Given the description of an element on the screen output the (x, y) to click on. 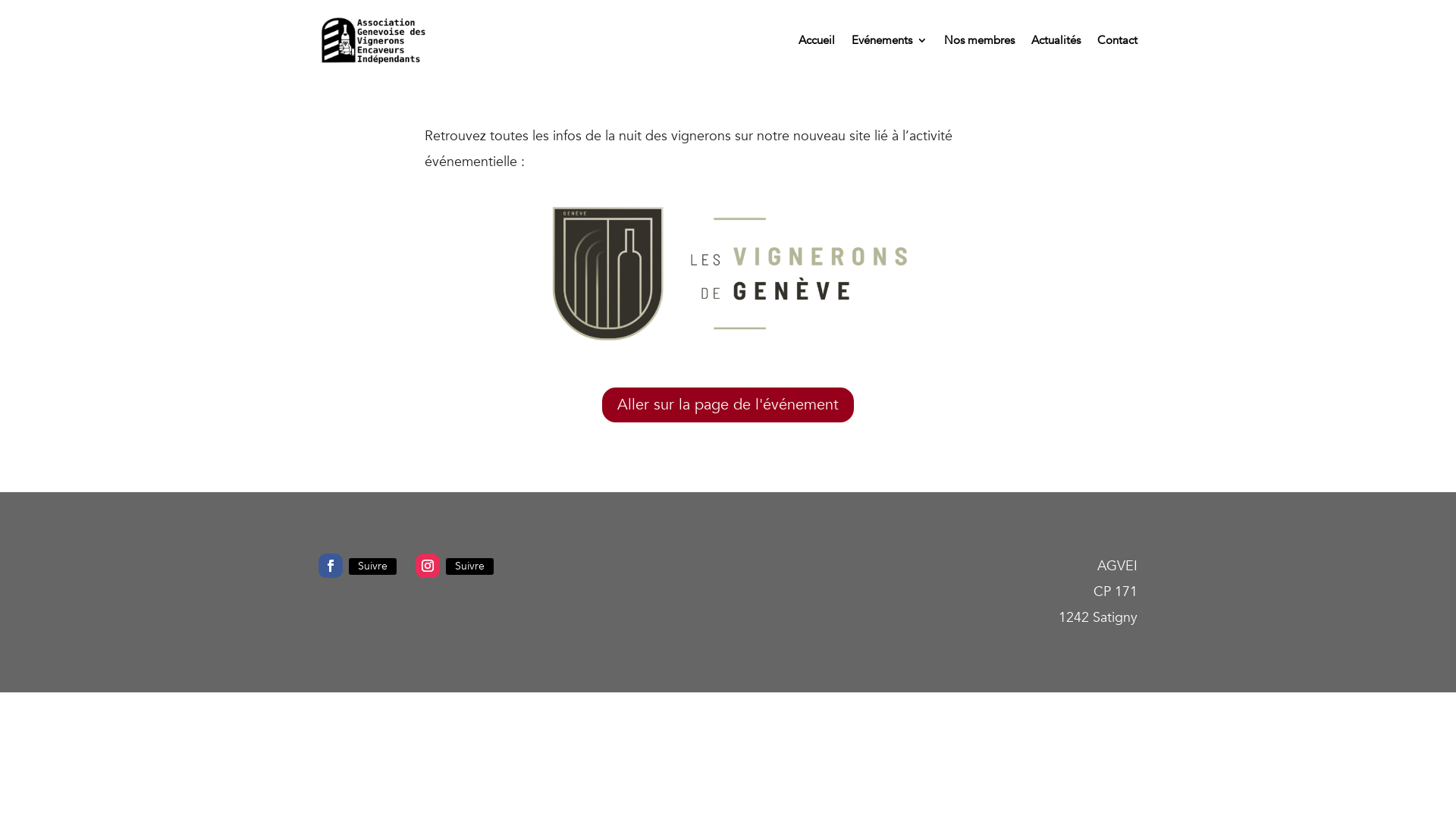
Suivez sur Instagram Element type: hover (427, 565)
Suivez sur Facebook Element type: hover (330, 565)
Nos membres Element type: text (979, 40)
Contact Element type: text (1117, 40)
Suivre Element type: text (469, 566)
Suivre Element type: text (372, 566)
Accueil Element type: text (816, 40)
